Given the description of an element on the screen output the (x, y) to click on. 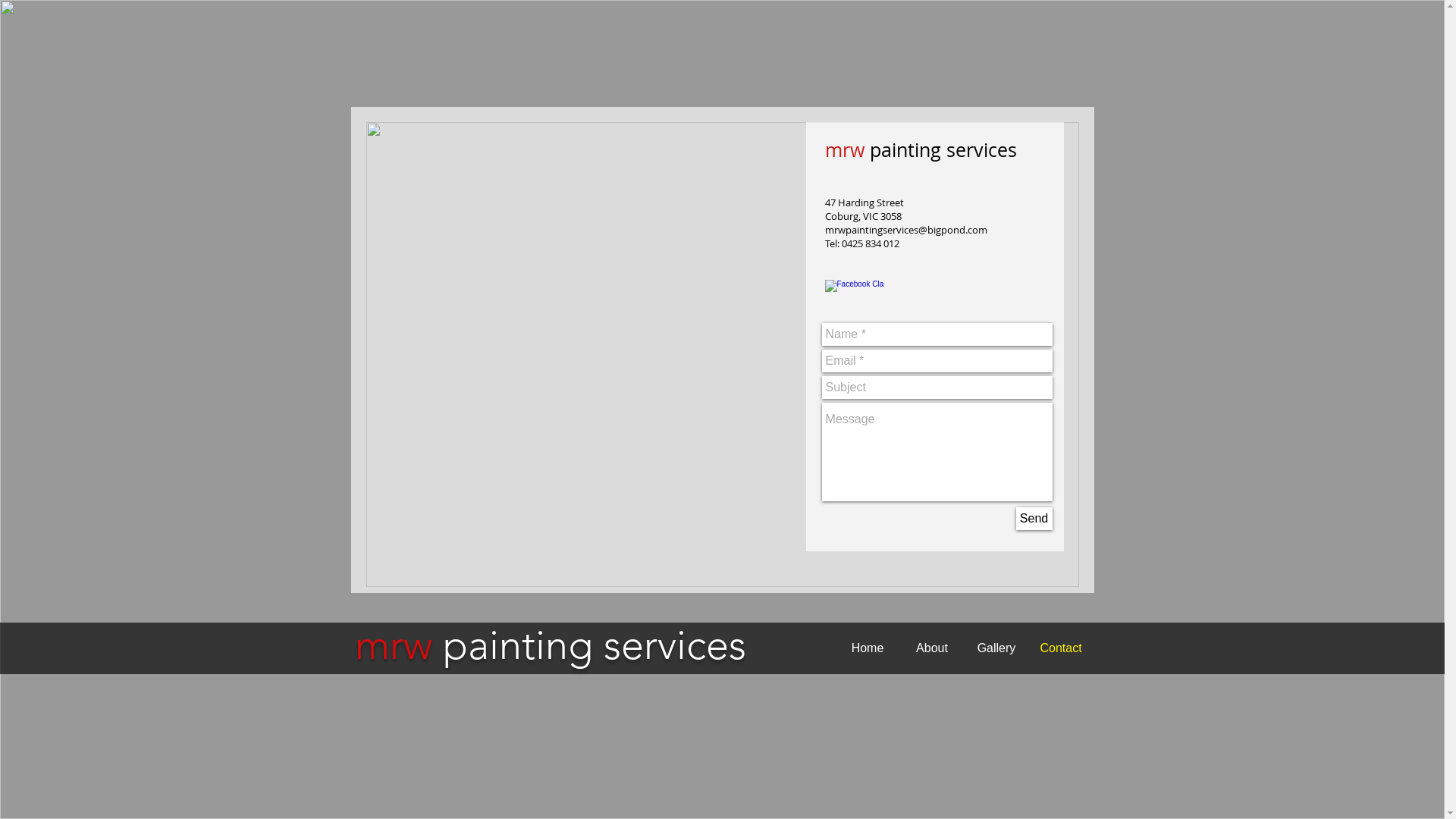
Facebook Like Element type: hover (993, 704)
IMG_4657.JPG Element type: hover (721, 354)
Contact Element type: text (1060, 647)
About Element type: text (931, 647)
Gallery Element type: text (996, 647)
Home Element type: text (867, 647)
Send Element type: text (1034, 518)
